Given the description of an element on the screen output the (x, y) to click on. 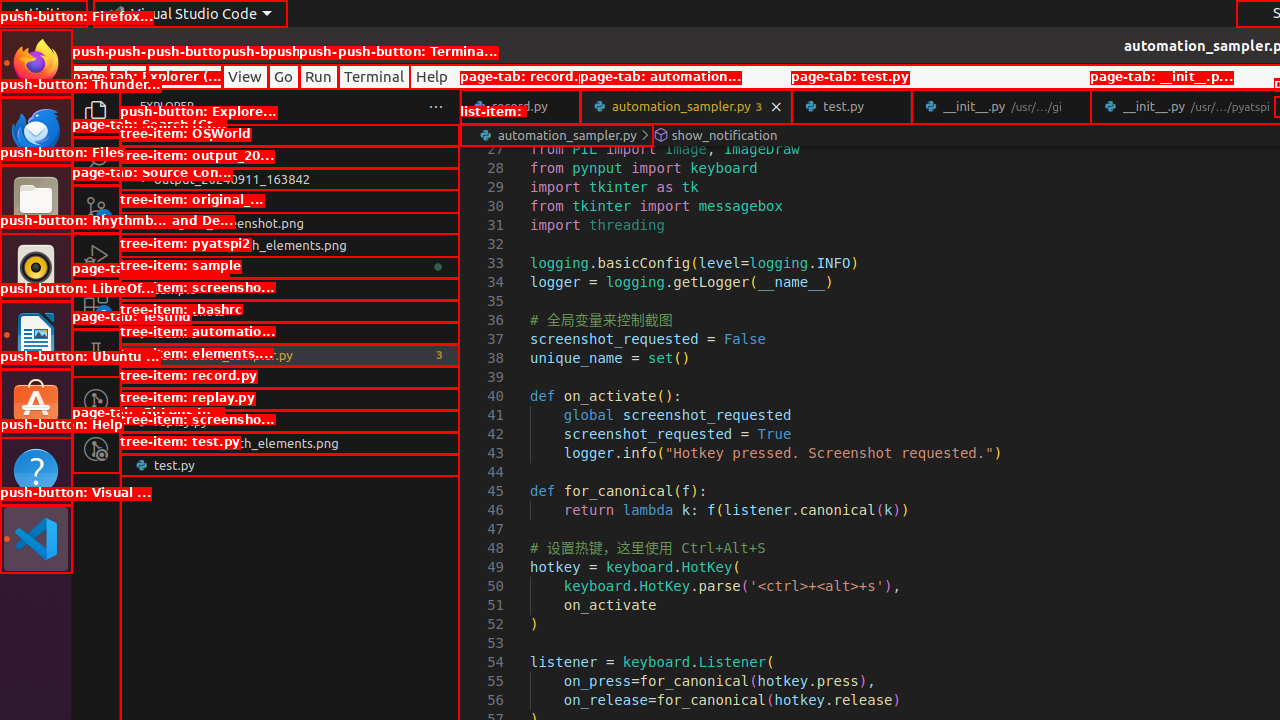
automation_sampler.py Element type: tree-item (289, 355)
View Element type: push-button (245, 76)
File Element type: push-button (90, 76)
Go Element type: push-button (283, 76)
